Given the description of an element on the screen output the (x, y) to click on. 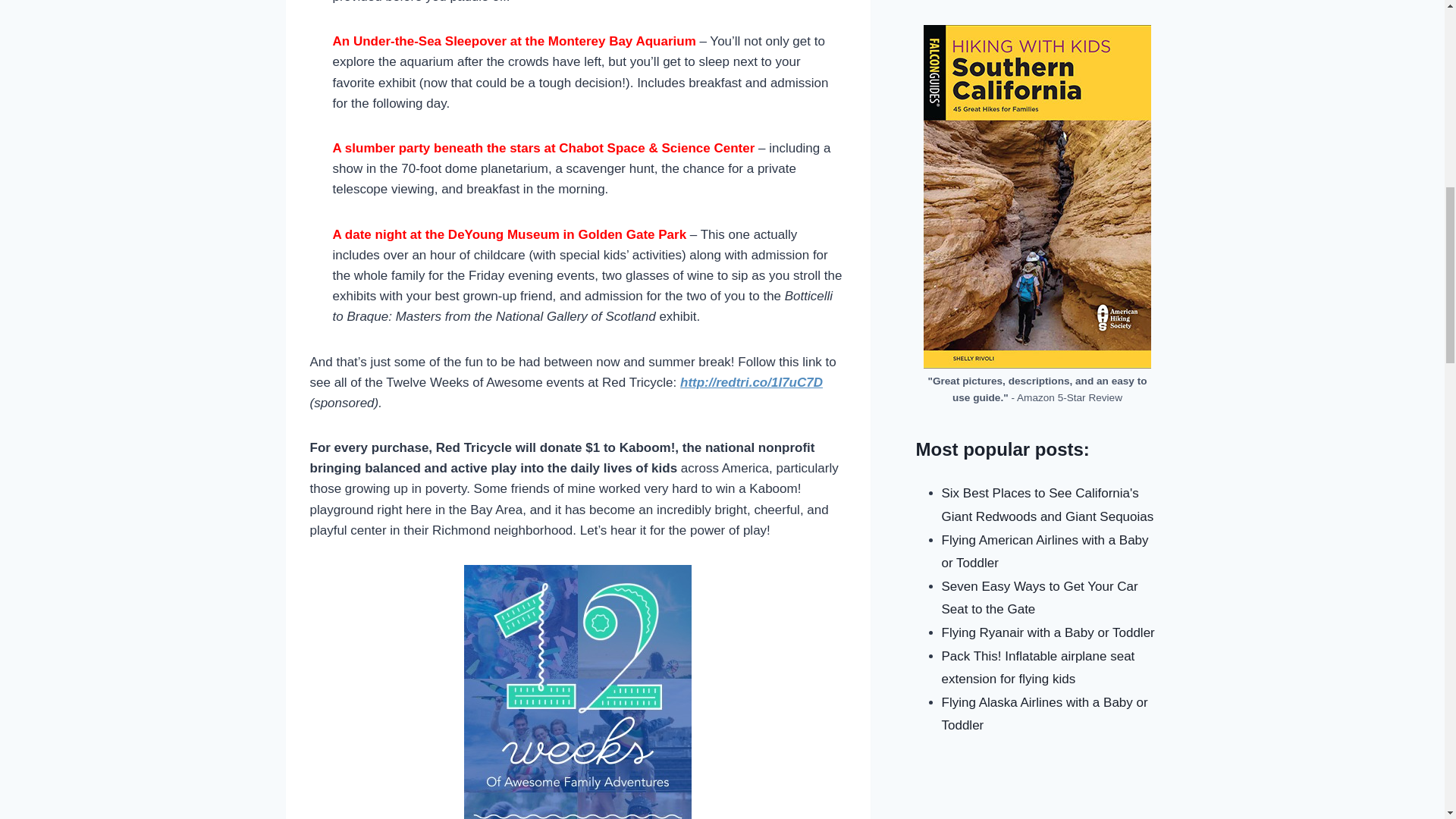
12 weeks of Awesome (577, 692)
